Given the description of an element on the screen output the (x, y) to click on. 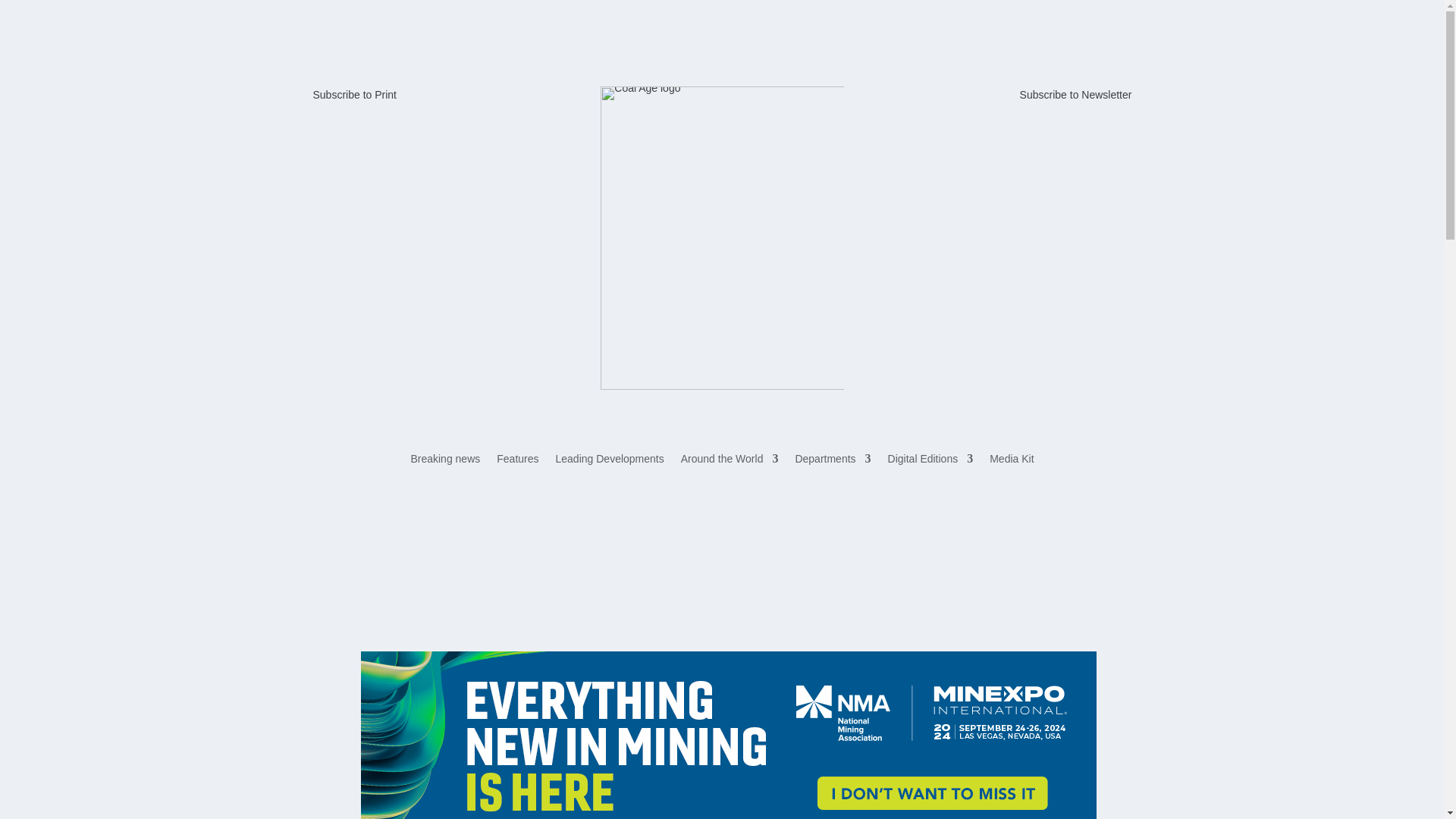
Coal Age logo (721, 237)
Departments (832, 461)
Breaking news (445, 461)
Subscribe to Newsletter (1076, 94)
Features (517, 461)
Leading Developments (609, 461)
Subscribe to Print (354, 94)
Around the World (729, 461)
Digital Editions (931, 461)
Media Kit (1011, 461)
